Given the description of an element on the screen output the (x, y) to click on. 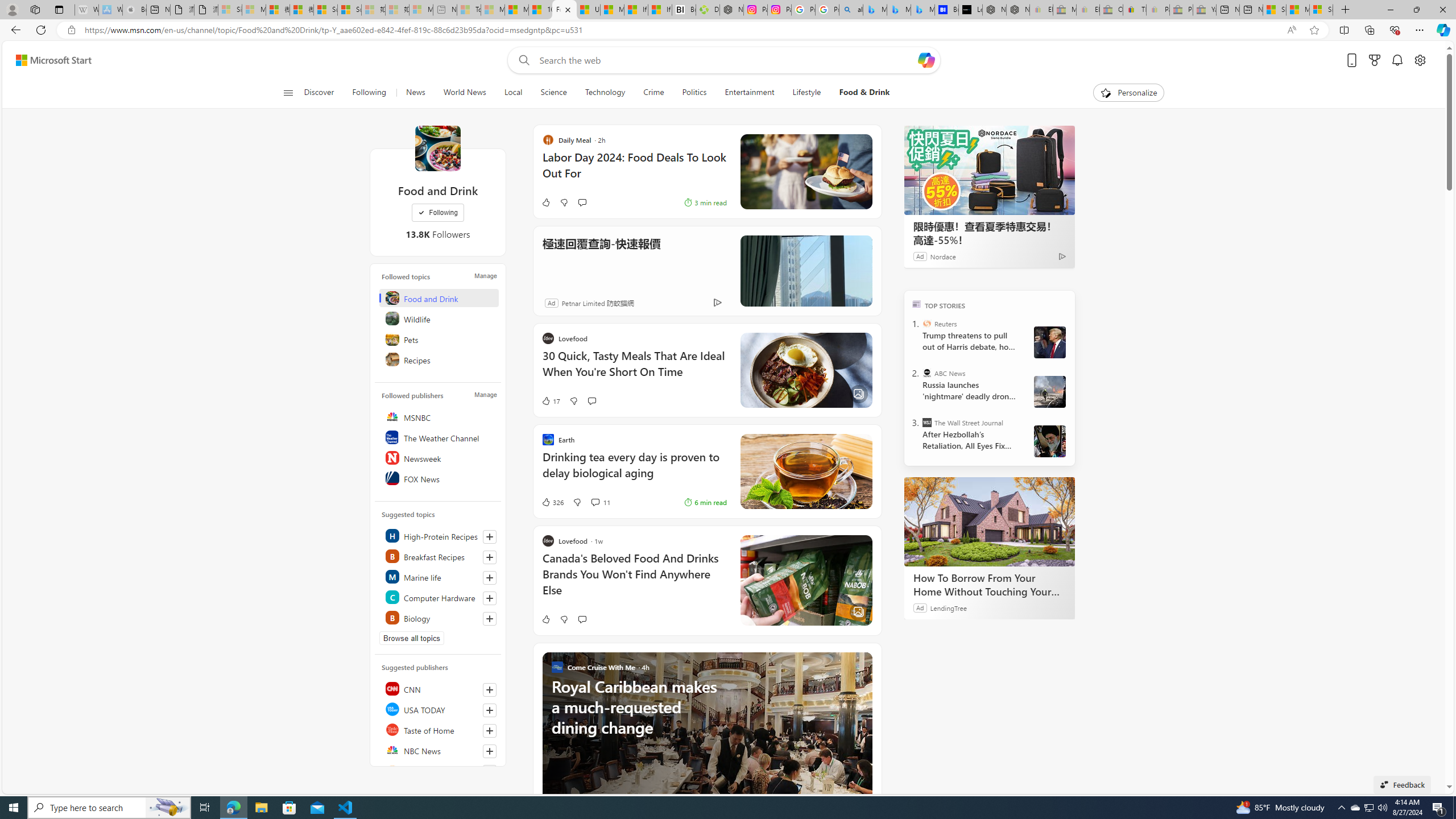
TOP (916, 302)
CNN (439, 688)
Payments Terms of Use | eBay.com - Sleeping (1157, 9)
Microsoft account | Account Checkup - Sleeping (421, 9)
ABC News (927, 372)
